Given the description of an element on the screen output the (x, y) to click on. 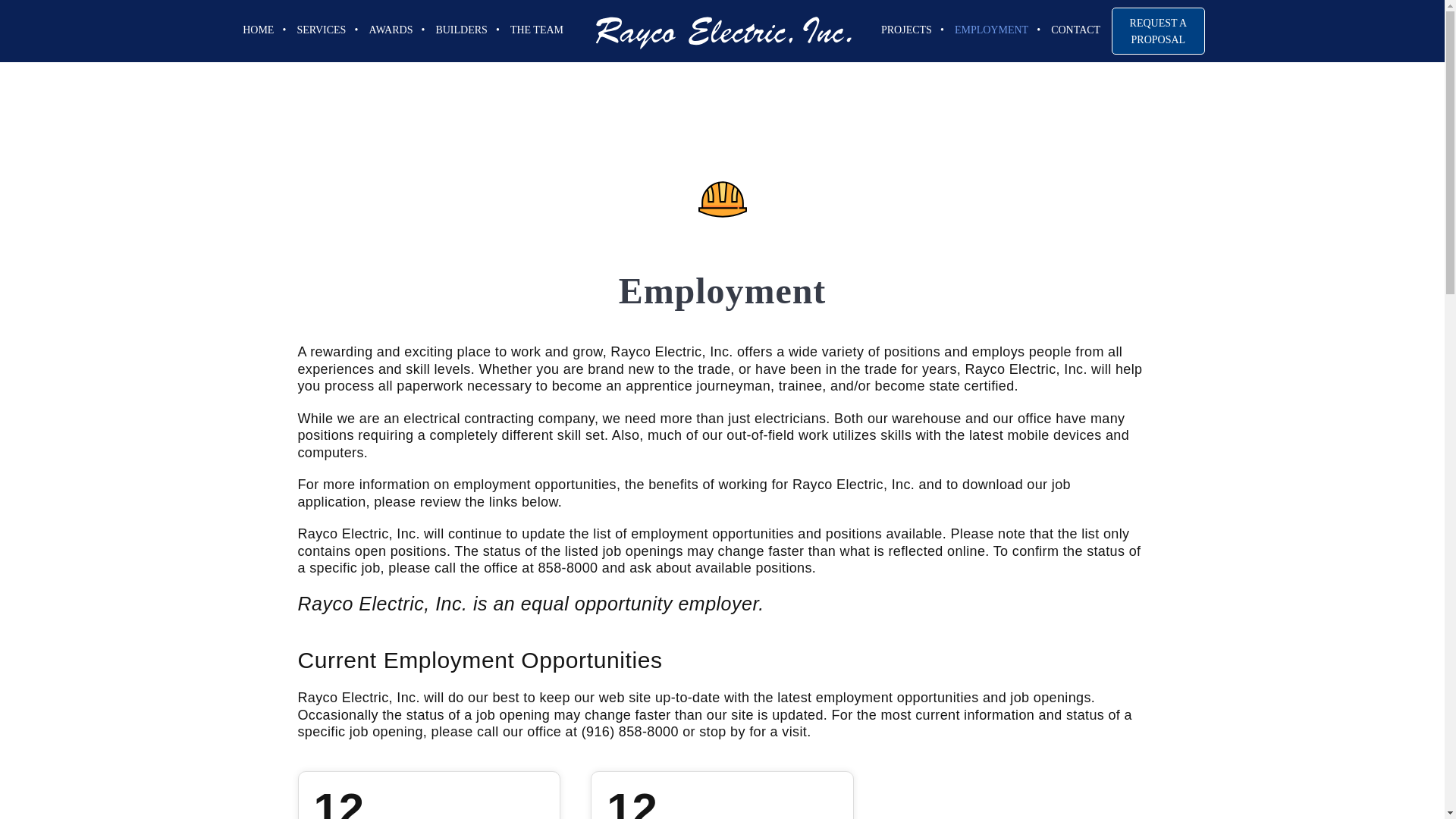
THE TEAM (537, 30)
EMPLOYMENT (991, 30)
SERVICES (320, 30)
AWARDS (389, 30)
BUILDERS (460, 30)
CONTACT (1075, 30)
PROJECTS (339, 803)
